Given the description of an element on the screen output the (x, y) to click on. 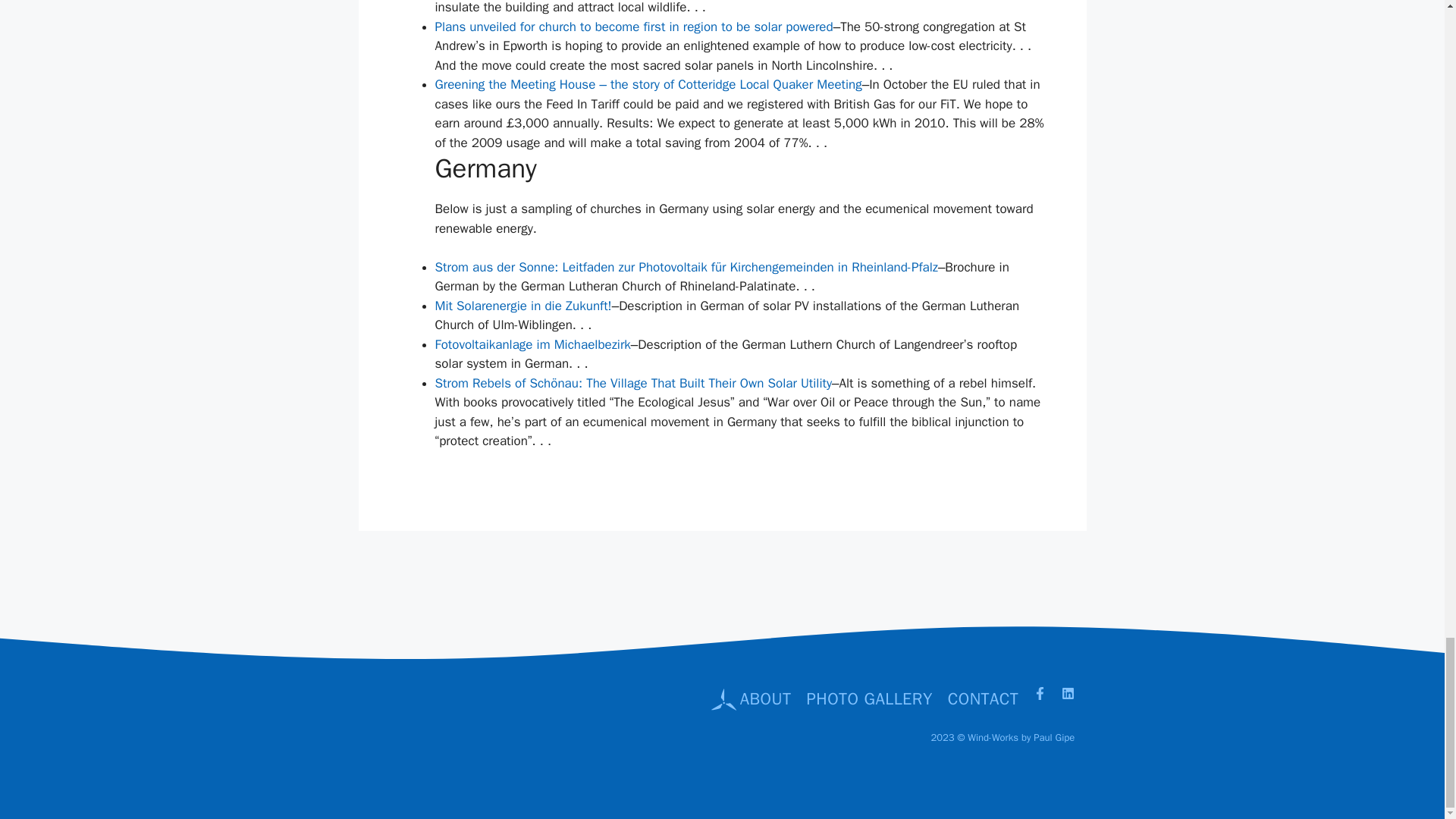
cropped-paulgipe-logo (346, 727)
